Given the description of an element on the screen output the (x, y) to click on. 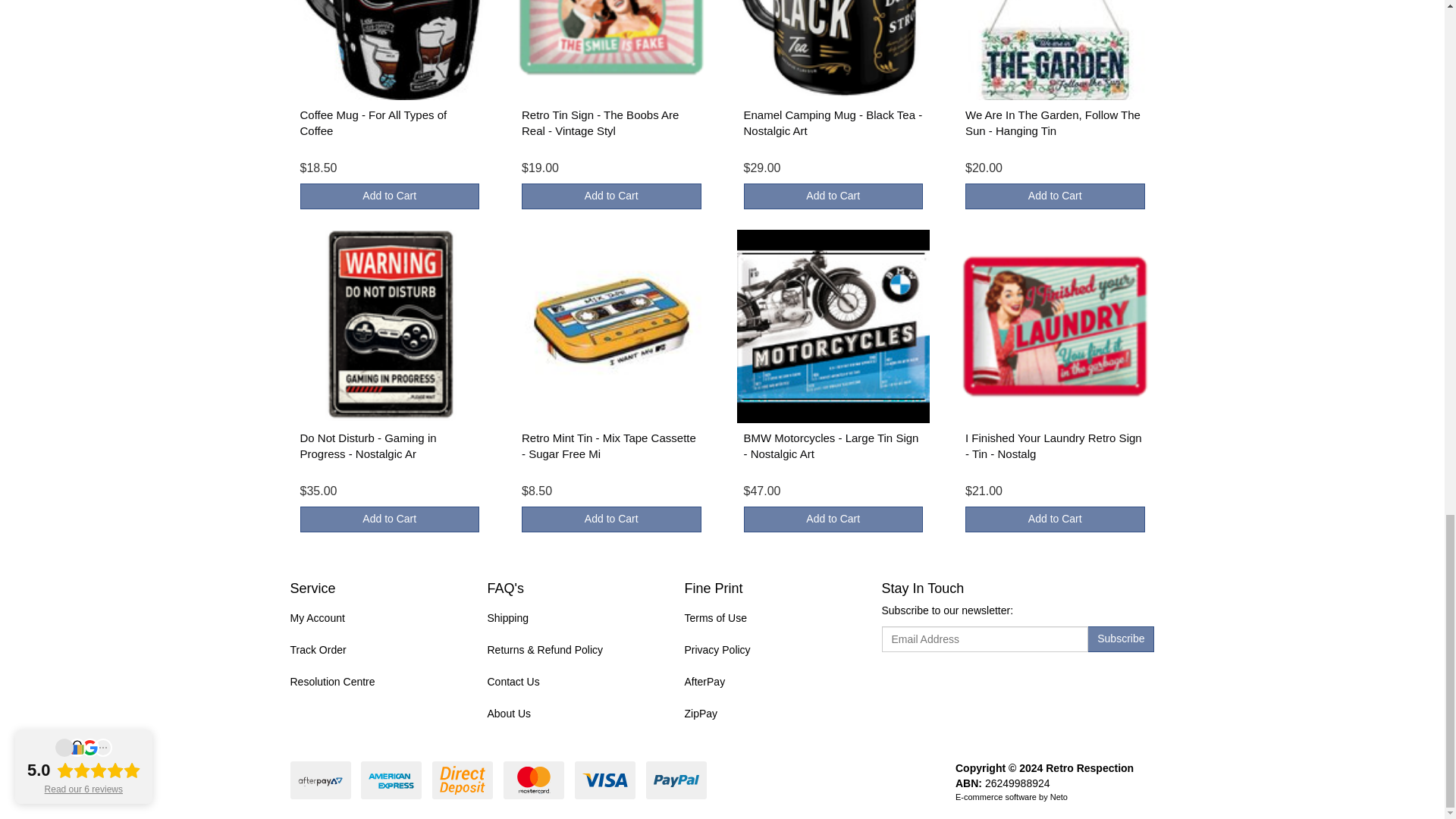
Retro Mint Tin - Mix Tape Cassette - Sugar Free Mints (608, 445)
Enamel Camping Mug - Black Tea - Nostalgic Art (831, 122)
Add to Cart (1054, 196)
Add to Cart (389, 196)
Subscribe (1120, 638)
Add to Cart (832, 196)
Coffee Mug - For All Types of Coffee (372, 122)
BMW Motorcycles - Large Tin Sign - Nostalgic Art (830, 445)
Retro Tin Sign - The Boobs Are Real - Vintage Style (599, 122)
Add to Cart (611, 519)
Add to Cart (611, 196)
Add to Cart (389, 519)
